Given the description of an element on the screen output the (x, y) to click on. 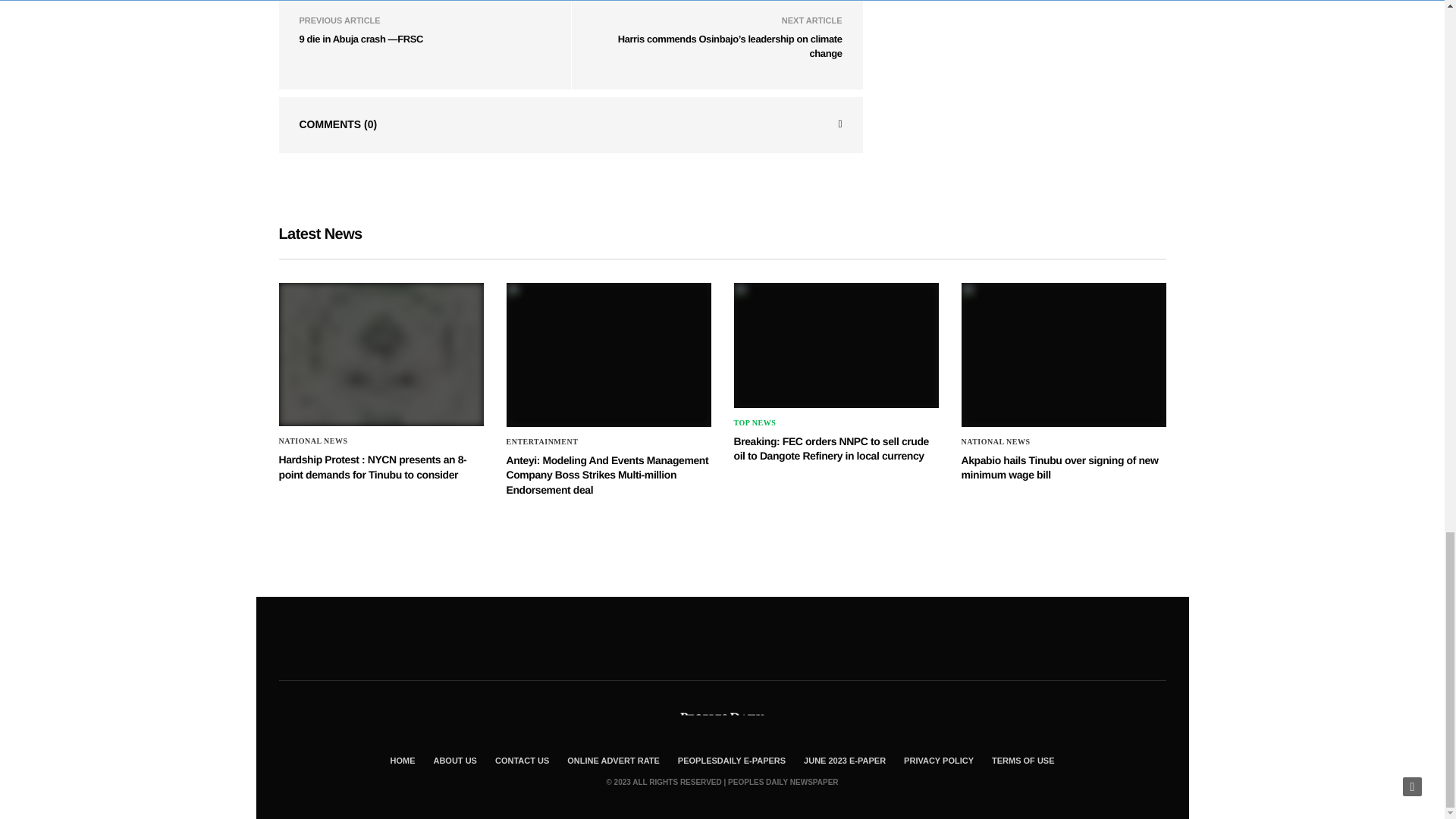
Akpabio hails Tinubu over signing of new minimum wage bill (1063, 354)
National News (313, 441)
National News (995, 441)
Top News (754, 422)
ENTERTAINMENT (542, 441)
